Given the description of an element on the screen output the (x, y) to click on. 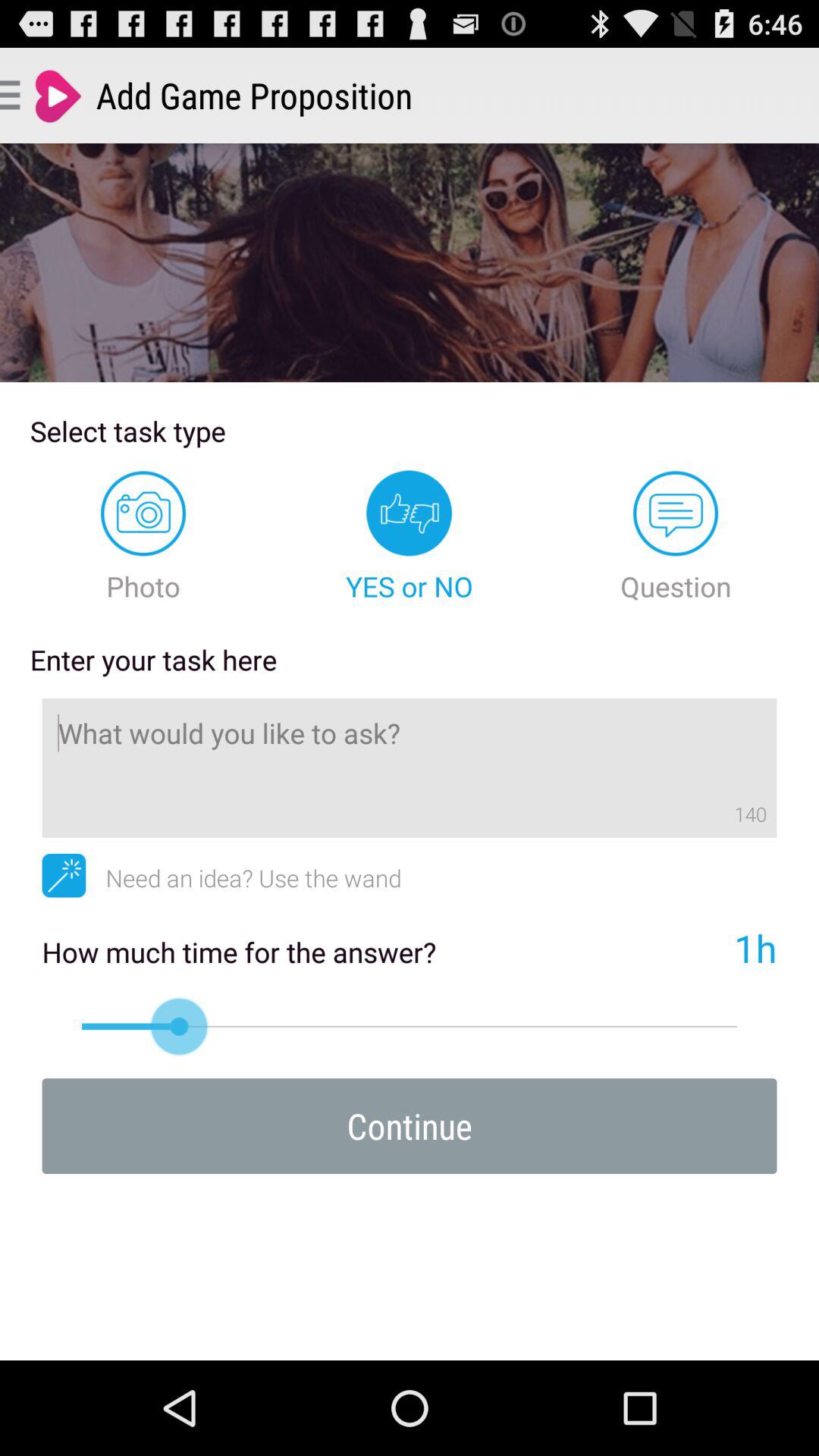
turn on app to the left of need an idea icon (63, 875)
